Given the description of an element on the screen output the (x, y) to click on. 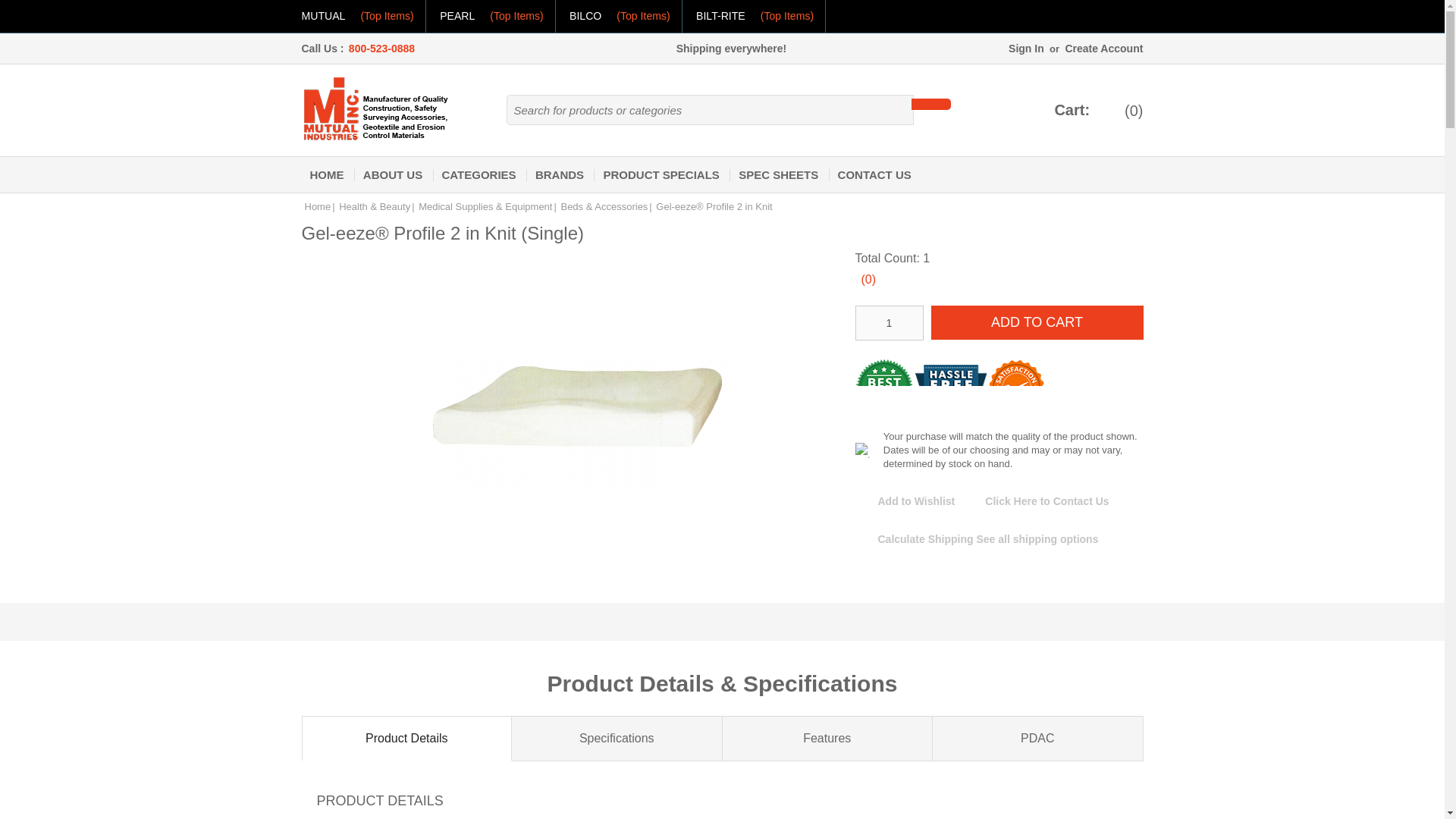
800-523-0888 (380, 48)
CATEGORIES (478, 174)
Mutual Industries Home (376, 108)
About Us (392, 174)
Sign In (1026, 48)
Items in your cart (1119, 110)
View Bilt-Rite Items (754, 16)
View Bilco Items (619, 16)
ABOUT US (392, 174)
View MUTUAL INDUSTRIES Items (357, 16)
